Given the description of an element on the screen output the (x, y) to click on. 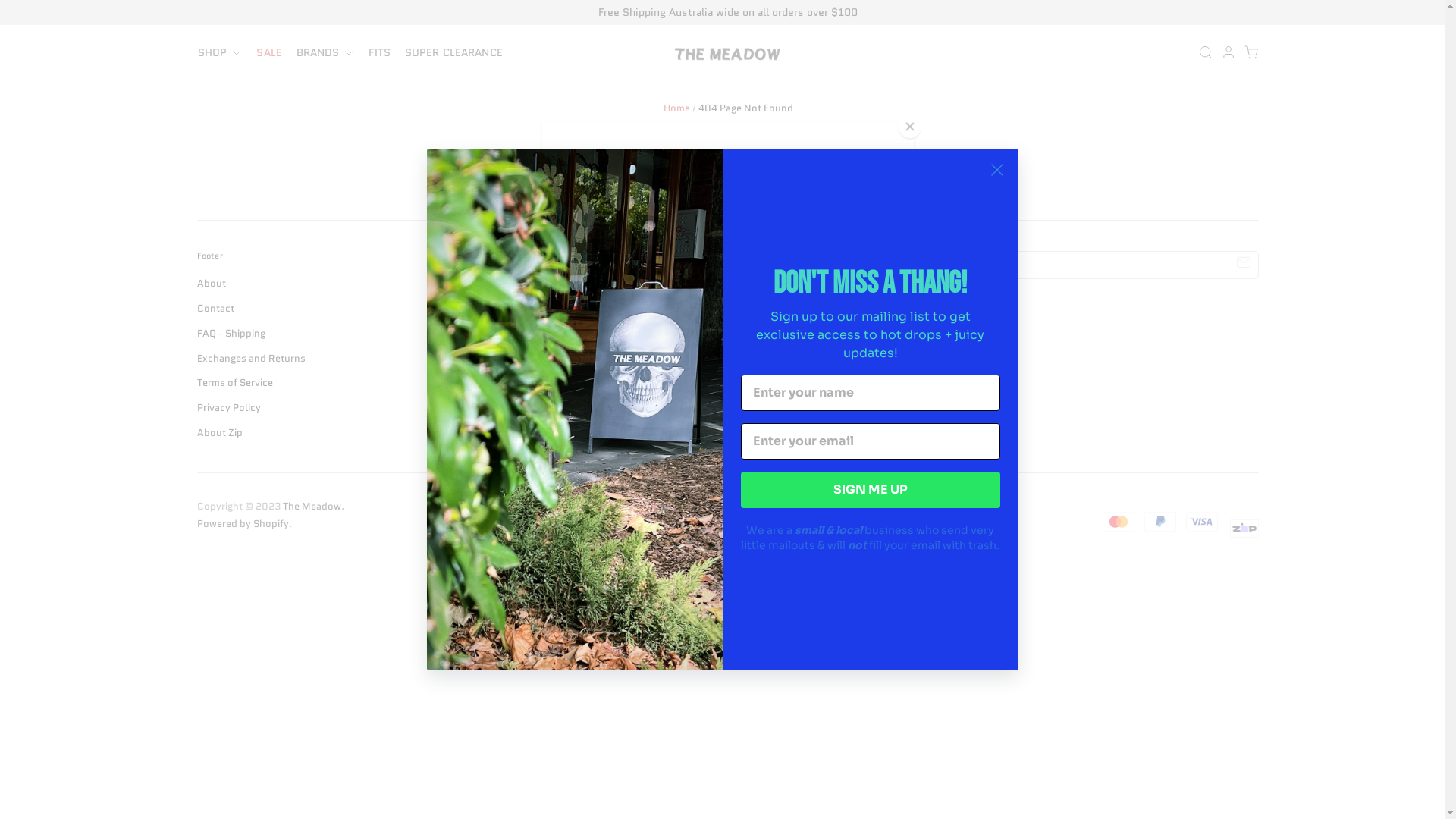
hello@inthemeadow.com.au Element type: text (625, 404)
Contact Element type: text (215, 308)
About Element type: text (211, 283)
Powered by Shopify Element type: text (242, 523)
BRANDS Element type: text (318, 52)
Exchanges and Returns Element type: text (251, 358)
FITS Element type: text (373, 52)
searching Element type: text (804, 178)
Home Element type: text (675, 107)
SUPER CLEARANCE Element type: text (447, 52)
The Meadow Element type: text (311, 505)
About Zip Element type: text (219, 432)
FAQ - Shipping Element type: text (231, 333)
Privacy Policy Element type: text (228, 407)
products Element type: text (937, 178)
Terms of Service Element type: text (235, 382)
SHOP Element type: text (220, 52)
SALE Element type: text (262, 52)
